Given the description of an element on the screen output the (x, y) to click on. 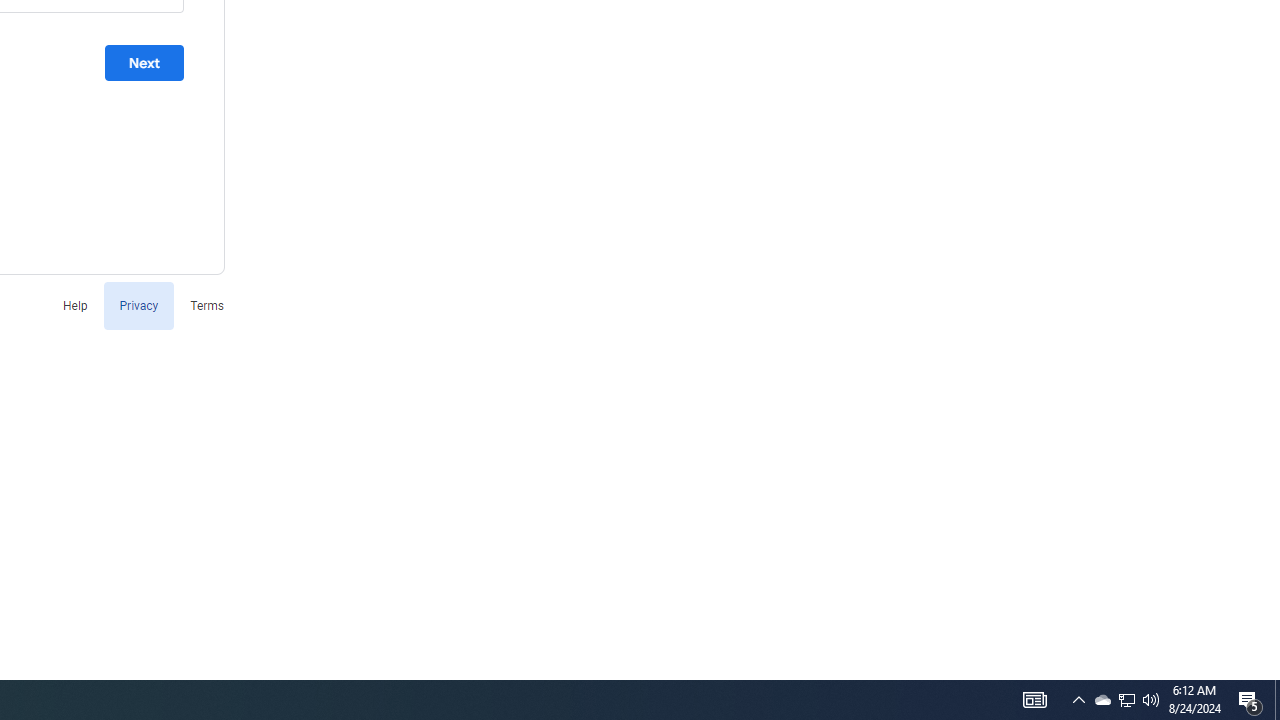
Privacy (138, 304)
Terms (207, 304)
Next (143, 63)
Help (74, 304)
